Given the description of an element on the screen output the (x, y) to click on. 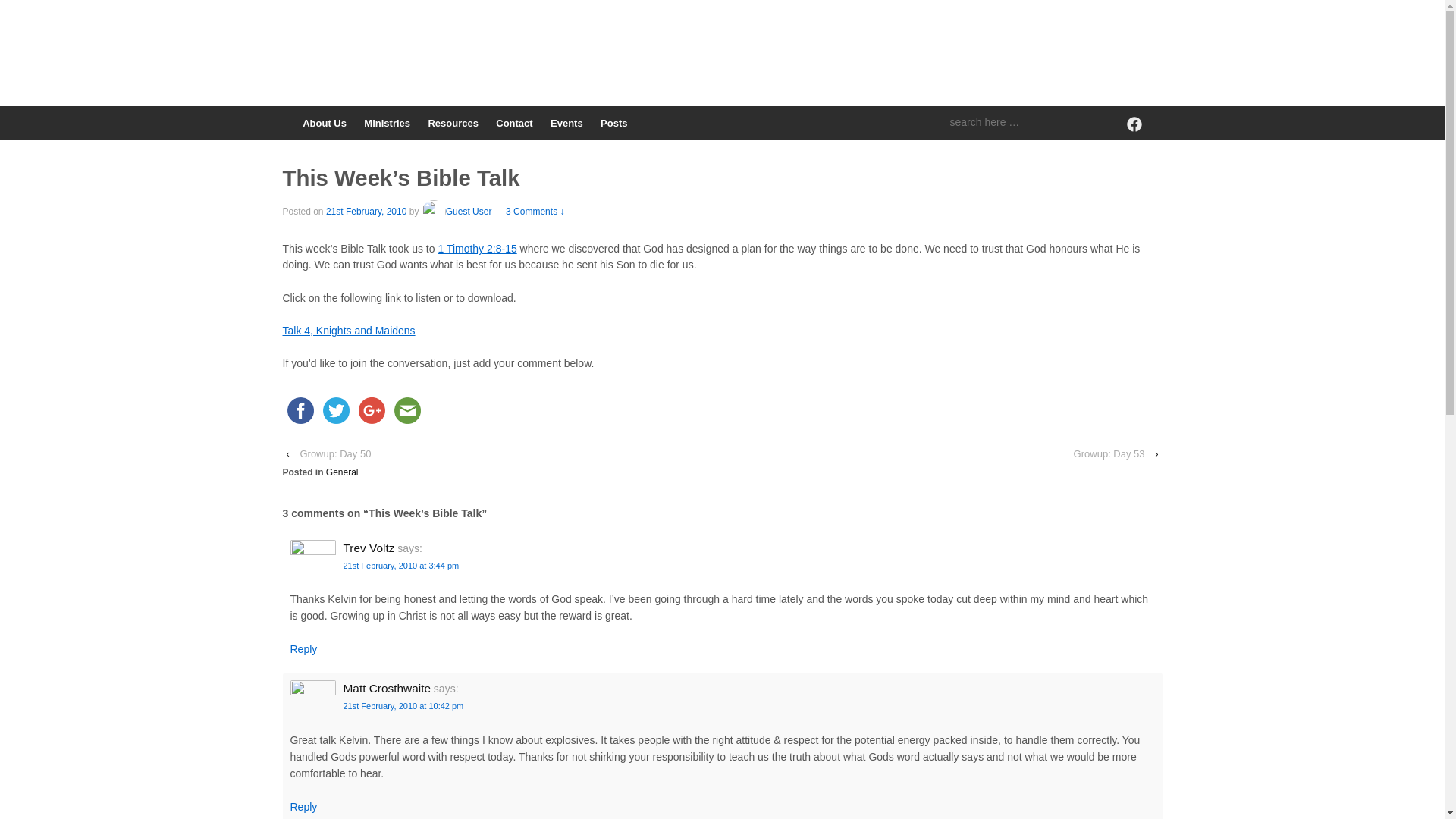
Guest User (457, 211)
Contact (514, 123)
Resources (453, 123)
twitter (335, 410)
email (407, 410)
Talk 4, Knights and Maidens (348, 330)
facebook (299, 410)
Events (566, 123)
Growup: Day 53 (1109, 453)
View all posts by Guest User (457, 211)
Posts (613, 123)
1 Timothy 2:8-15 (477, 248)
Ministries (387, 123)
Growup: Day 50 (335, 453)
google (370, 410)
